Given the description of an element on the screen output the (x, y) to click on. 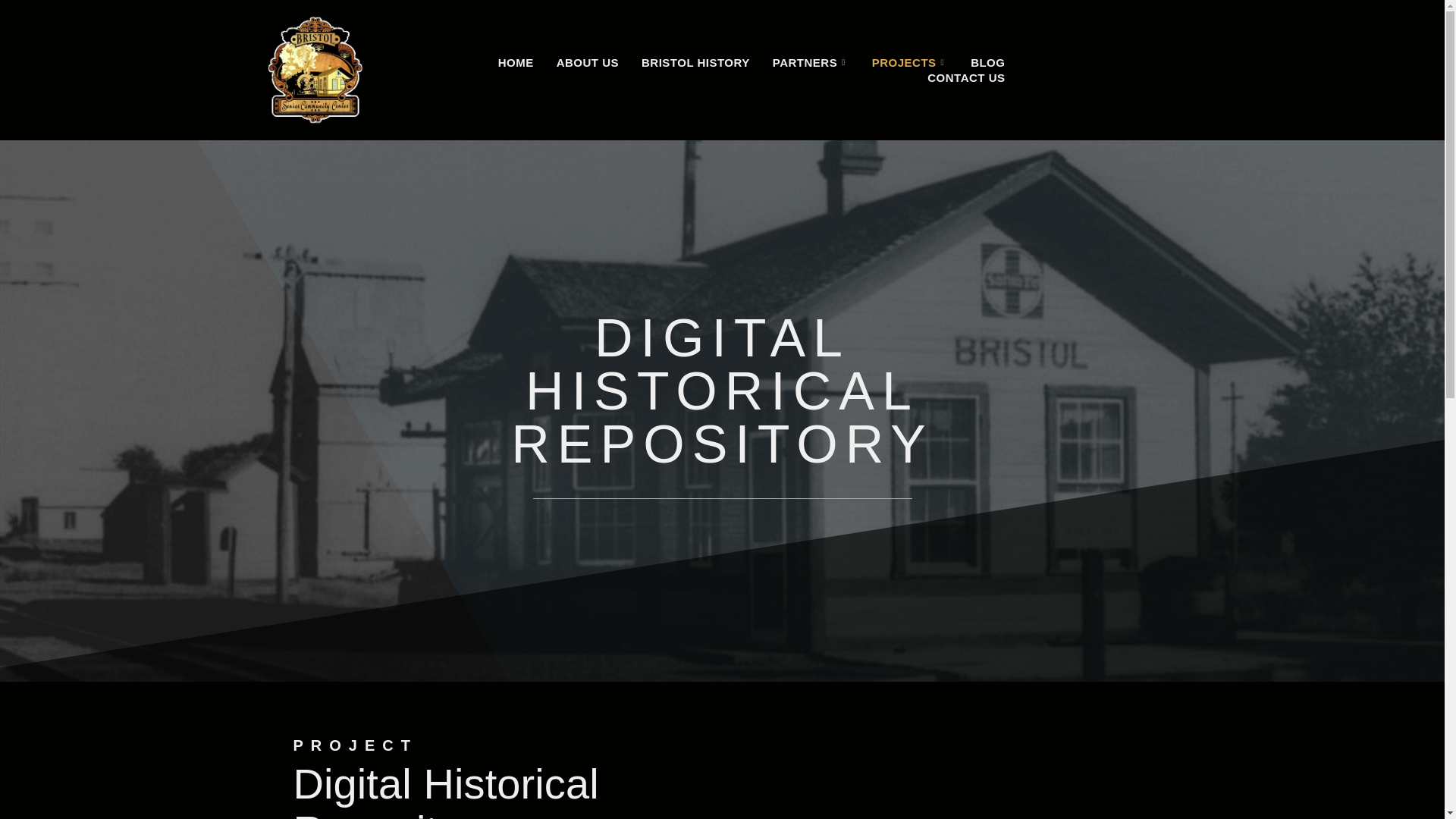
BLOG (987, 62)
PROJECTS (909, 62)
BRISTOL HISTORY (695, 62)
PARTNERS (810, 62)
CONTACT US (965, 77)
HOME (515, 62)
ABOUT US (587, 62)
